Given the description of an element on the screen output the (x, y) to click on. 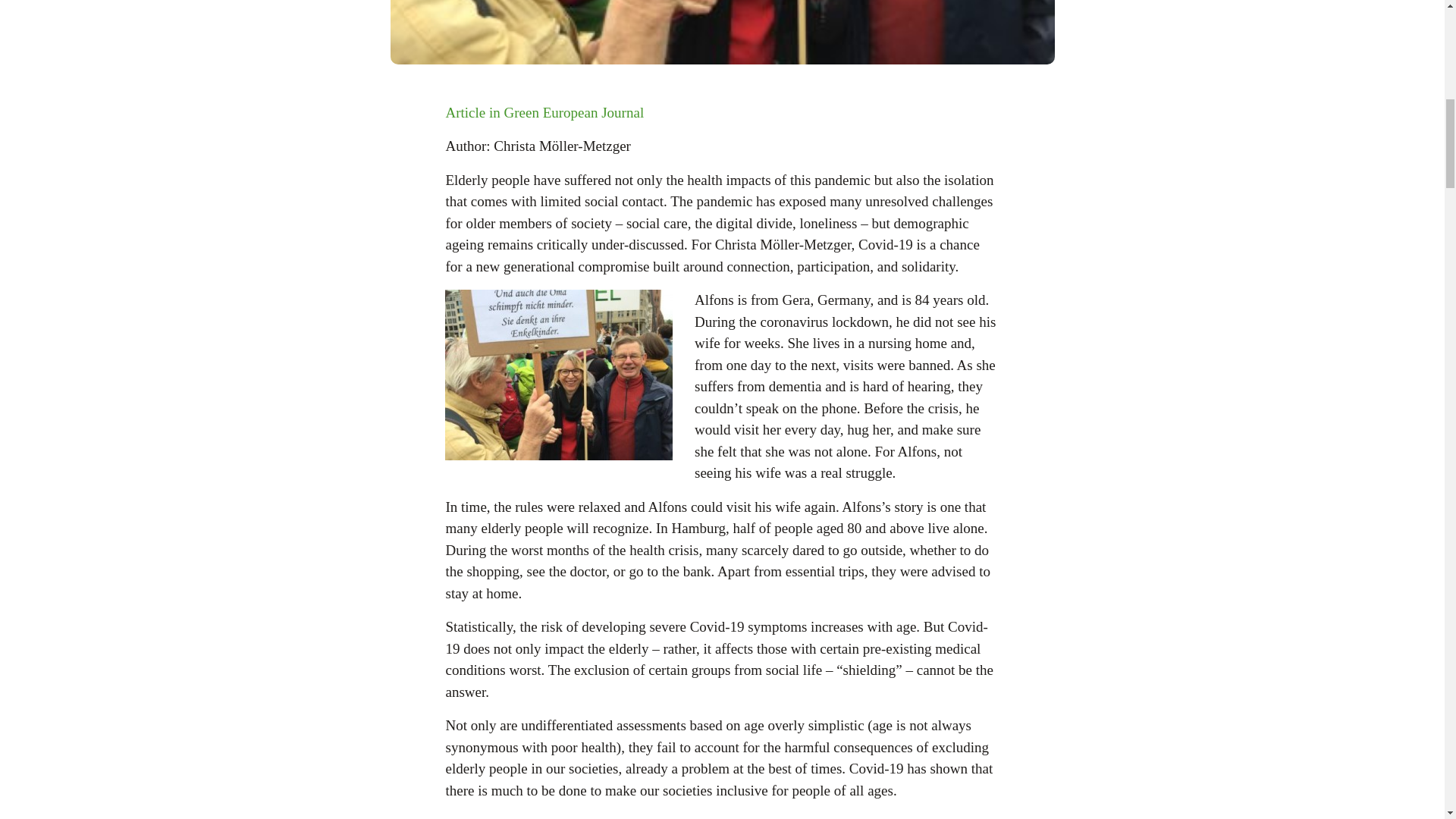
Article in Green European Journal (544, 112)
